Given the description of an element on the screen output the (x, y) to click on. 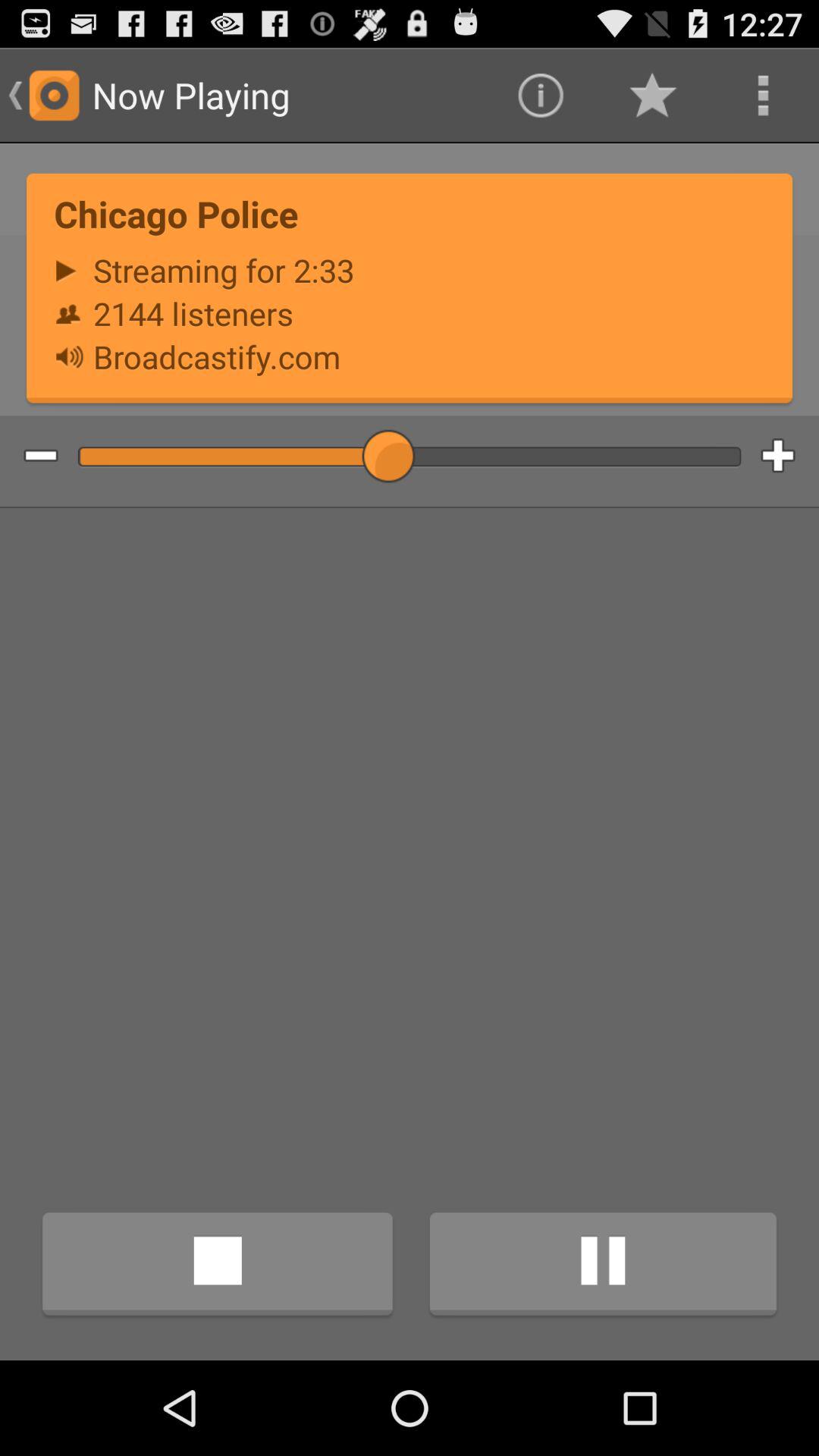
open app above the chicago police item (540, 95)
